Given the description of an element on the screen output the (x, y) to click on. 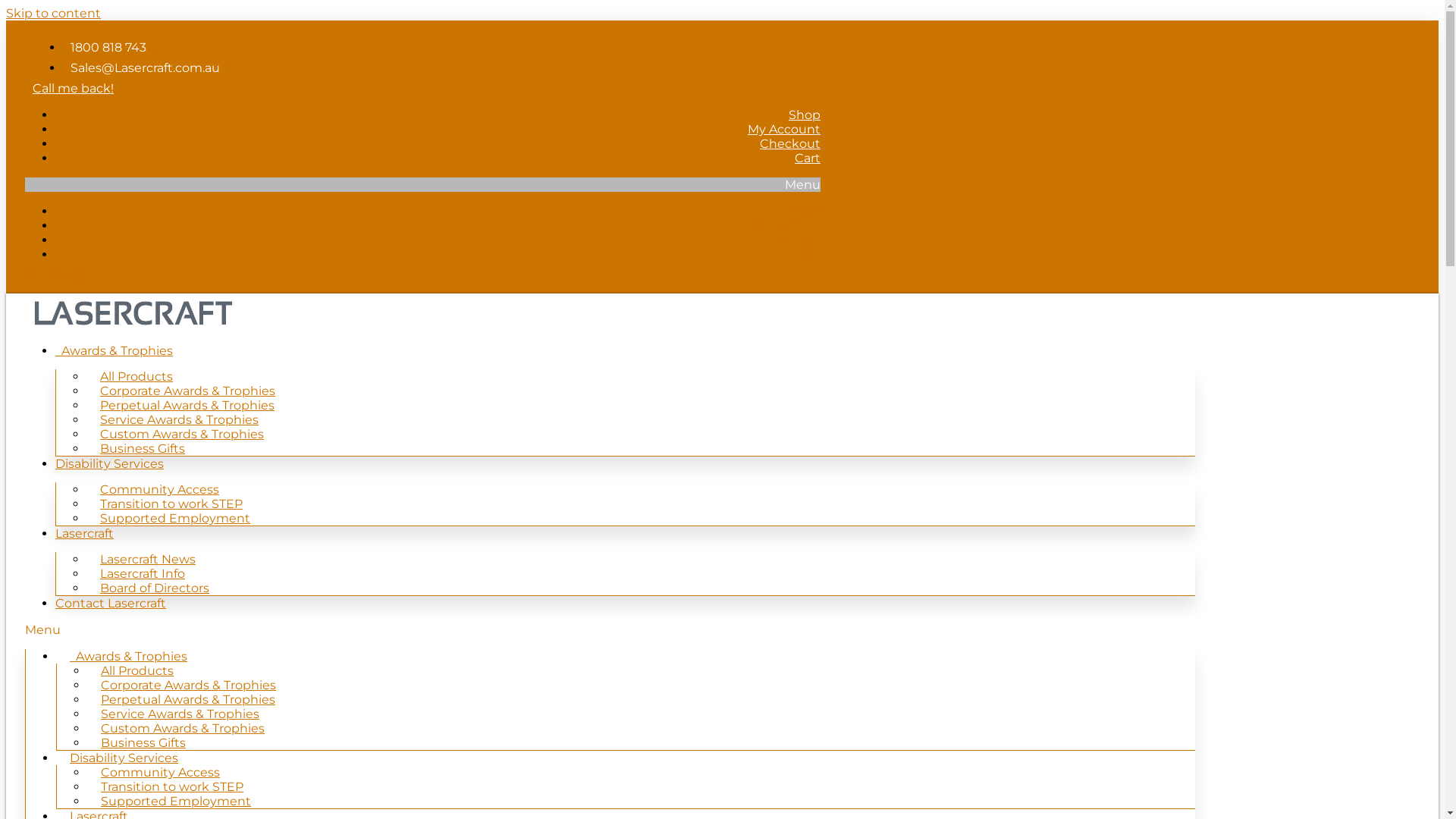
Transition to work STEP Element type: text (172, 786)
Disability Services Element type: text (109, 463)
Lasercraft Element type: text (84, 533)
Service Awards & Trophies Element type: text (180, 713)
Call me back! Element type: text (72, 85)
Service Awards & Trophies Element type: text (179, 419)
Lasercraft Info Element type: text (142, 573)
Sales@Lasercraft.com.au Element type: text (140, 67)
Contact Lasercraft Element type: text (110, 603)
Disability Services Element type: text (123, 757)
Cart Element type: text (807, 254)
All Products Element type: text (136, 376)
Perpetual Awards & Trophies Element type: text (187, 699)
Lasercraft News Element type: text (147, 558)
Skip to content Element type: text (53, 13)
Custom Awards & Trophies Element type: text (181, 433)
Community Access Element type: text (160, 772)
Perpetual Awards & Trophies Element type: text (187, 404)
Corporate Awards & Trophies Element type: text (188, 684)
  Awards & Trophies Element type: text (113, 350)
Checkout Element type: text (789, 239)
Shop Element type: text (804, 114)
Supported Employment Element type: text (174, 517)
1800 818 743 Element type: text (104, 47)
My Account Element type: text (783, 129)
All Products Element type: text (137, 670)
  Awards & Trophies Element type: text (128, 656)
My Account Element type: text (783, 225)
Shop Element type: text (804, 210)
Corporate Awards & Trophies Element type: text (187, 390)
Community Access Element type: text (159, 489)
Cart Element type: text (807, 157)
$0.00 0 Basket Element type: text (66, 275)
Transition to work STEP Element type: text (171, 503)
Custom Awards & Trophies Element type: text (182, 728)
Business Gifts Element type: text (143, 742)
Checkout Element type: text (789, 143)
Board of Directors Element type: text (154, 587)
2022_08_01-Lasercraft-Logo-01a.png Element type: hover (133, 313)
Business Gifts Element type: text (142, 448)
